Given the description of an element on the screen output the (x, y) to click on. 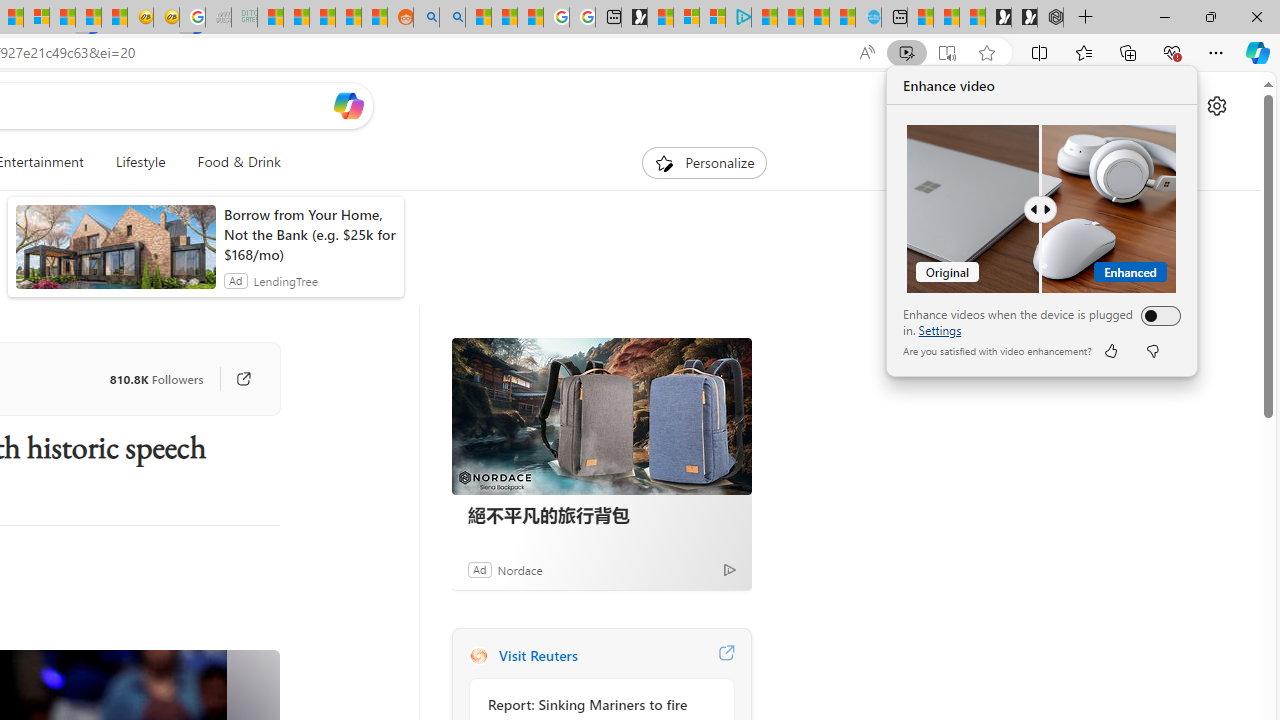
Student Loan Update: Forgiveness Program Ends This Month (347, 17)
Borrow from Your Home, Not the Bank (e.g. $25k for $168/mo) (308, 234)
like (1110, 350)
